Given the description of an element on the screen output the (x, y) to click on. 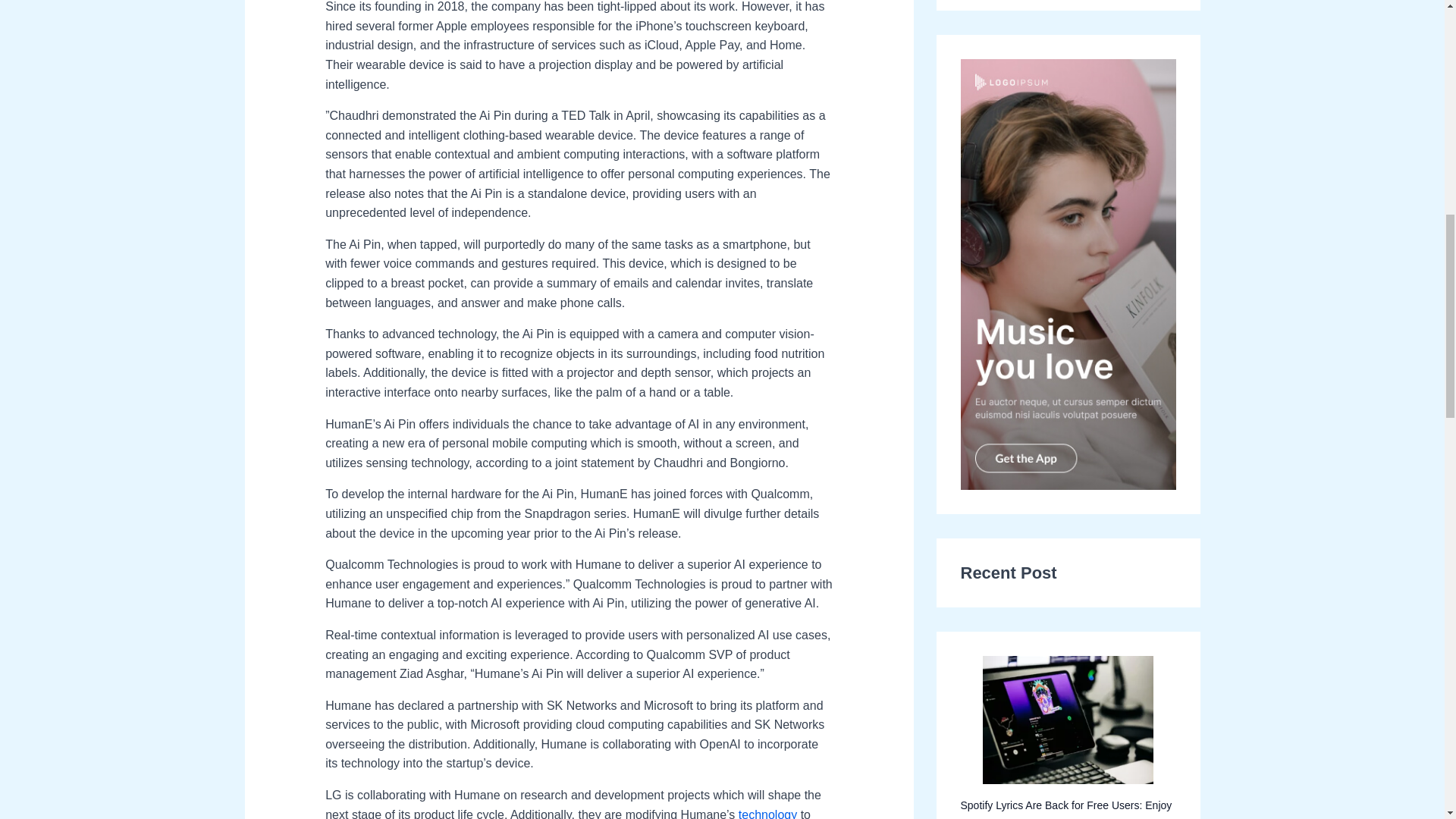
technology (767, 813)
